Given the description of an element on the screen output the (x, y) to click on. 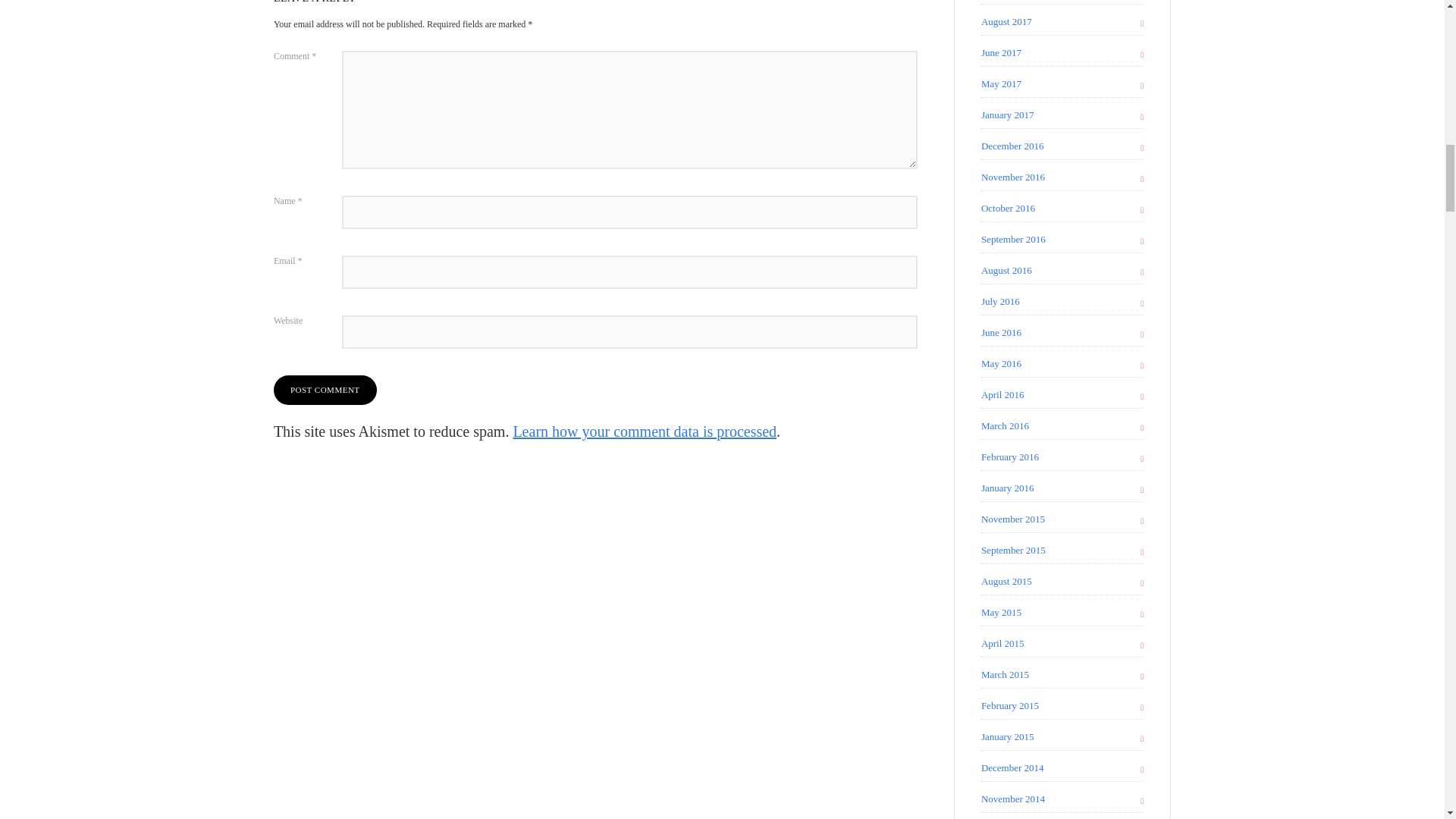
Learn how your comment data is processed (644, 431)
Post Comment (325, 389)
Post Comment (325, 389)
